Given the description of an element on the screen output the (x, y) to click on. 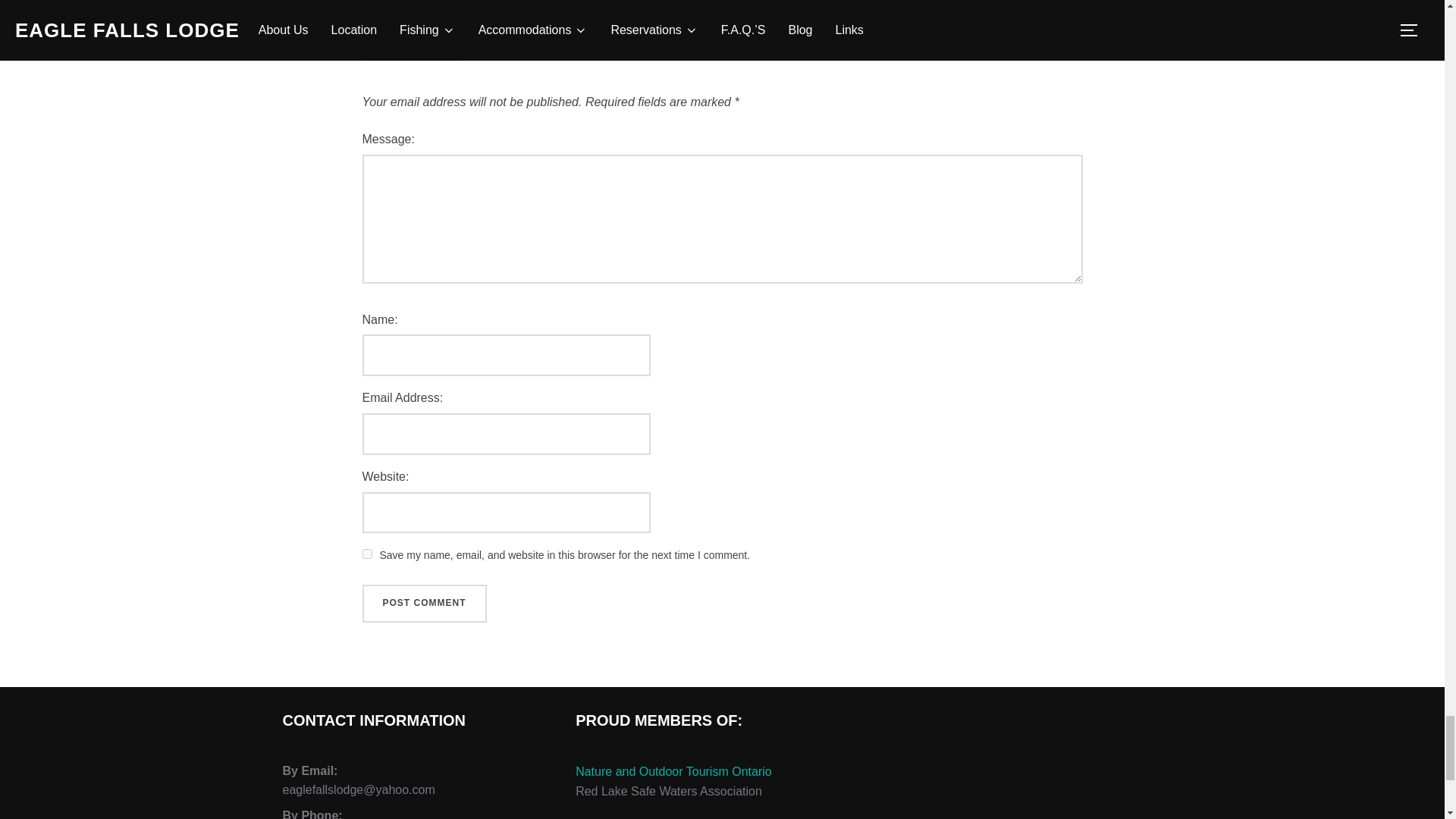
Post Comment (424, 603)
yes (367, 553)
